Given the description of an element on the screen output the (x, y) to click on. 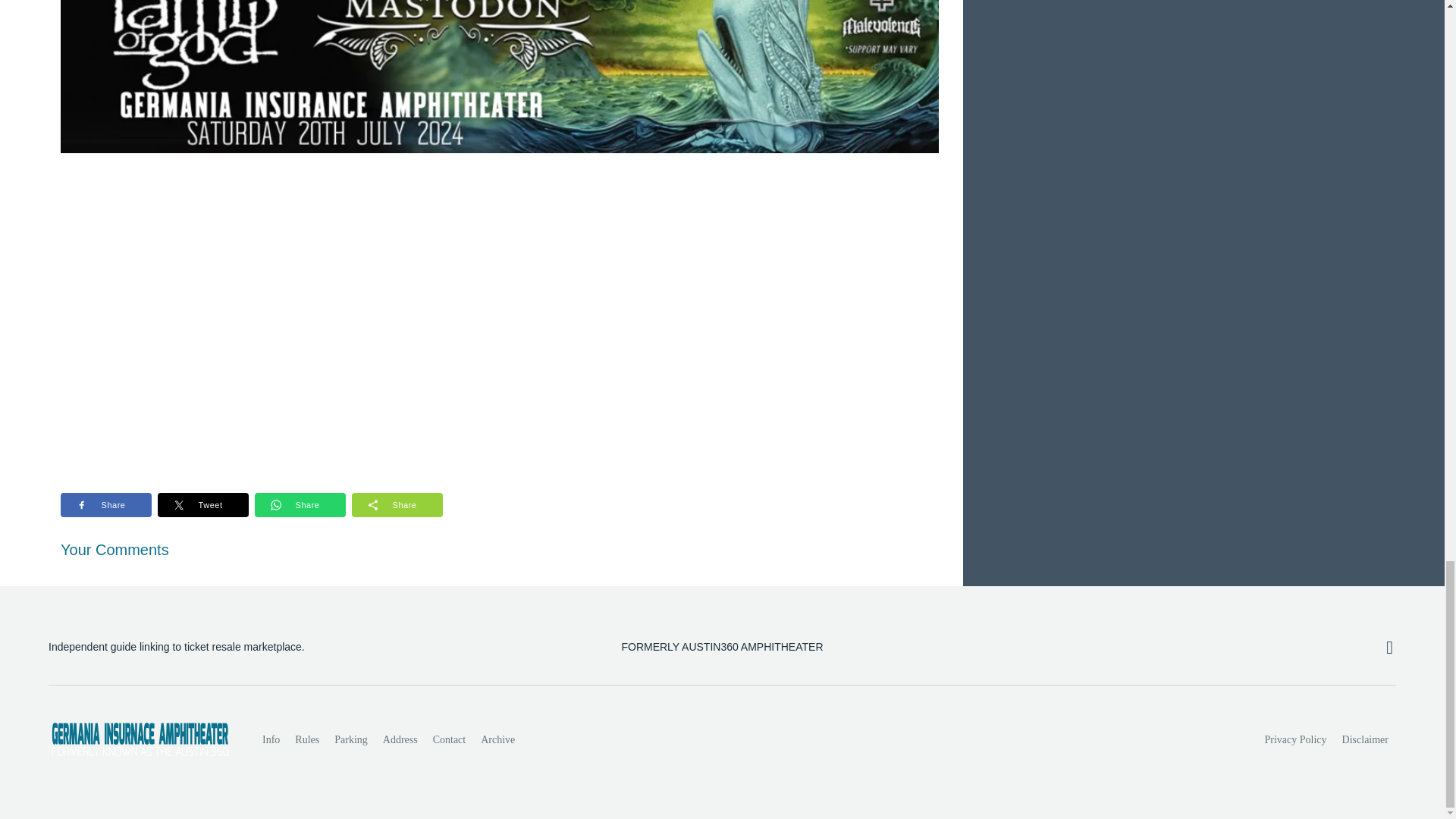
Info (270, 739)
Contact (449, 739)
Archive (497, 739)
Rules (306, 739)
Disclaimer (1365, 739)
Parking (350, 739)
Privacy Policy (1296, 739)
Address (400, 739)
